Given the description of an element on the screen output the (x, y) to click on. 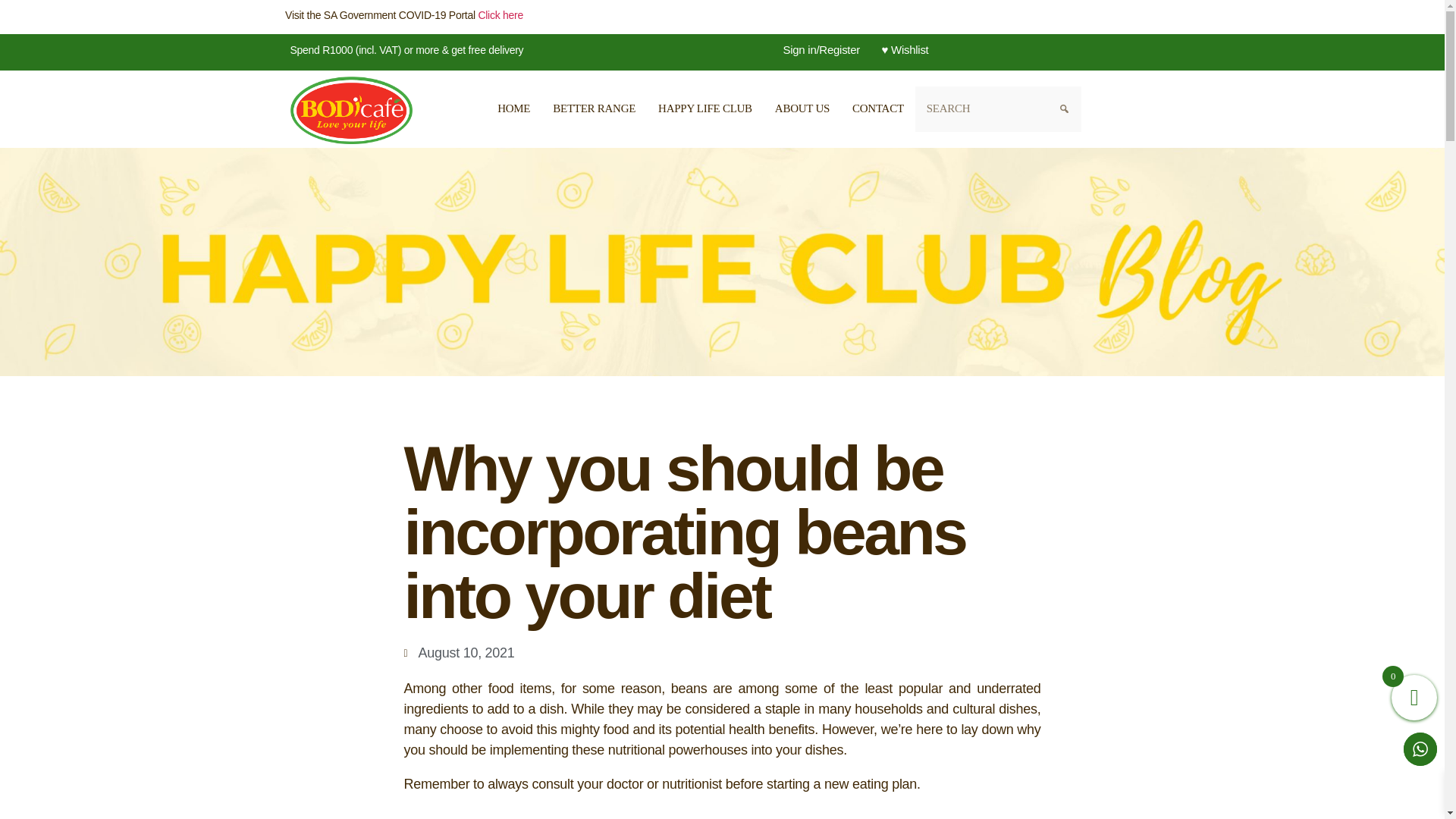
ABOUT US (801, 108)
CONTACT (878, 108)
HAPPY LIFE CLUB (704, 108)
BETTER RANGE (593, 108)
HOME (513, 108)
Click here (499, 15)
